Given the description of an element on the screen output the (x, y) to click on. 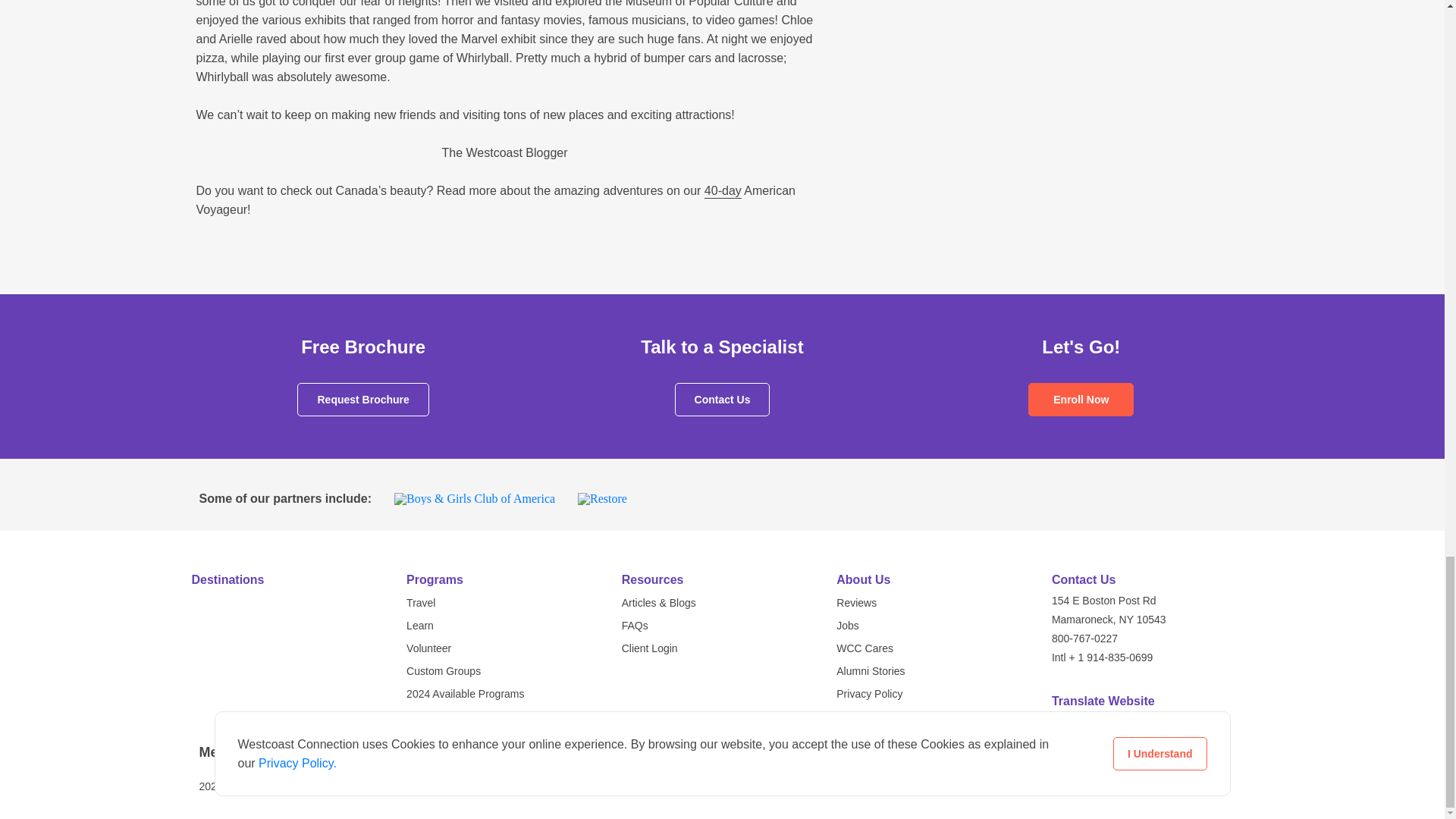
Enroll Now (1080, 399)
Programs (434, 579)
Learn (419, 625)
Visit our partner Restore (602, 499)
Travel (420, 603)
Contact Us (722, 399)
View all Destinations (284, 579)
Request Brochure (362, 399)
